Given the description of an element on the screen output the (x, y) to click on. 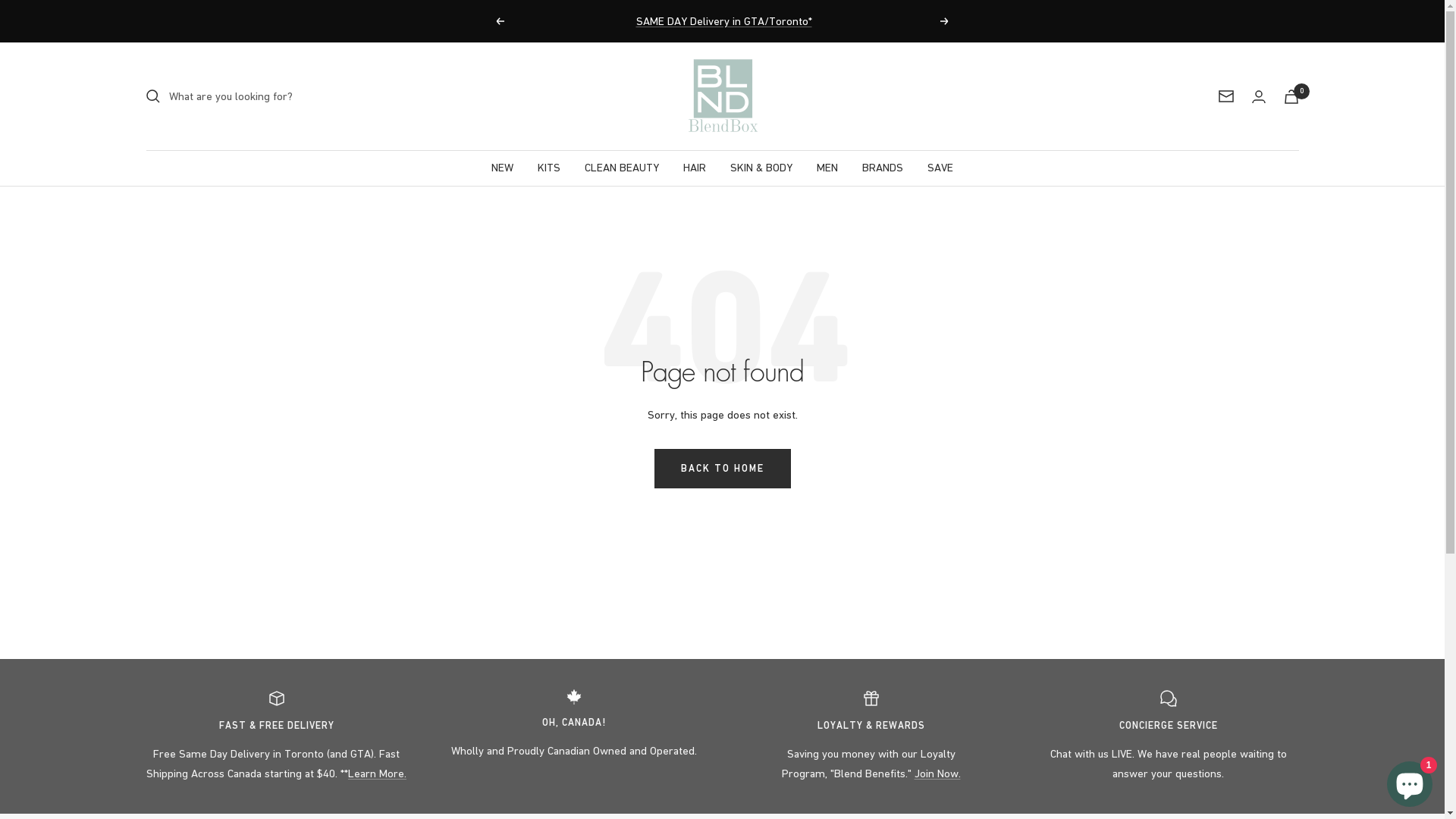
CLEAN BEAUTY Element type: text (621, 167)
Previous Element type: text (499, 21)
HAIR Element type: text (694, 167)
Blend Box Element type: text (721, 96)
0 Element type: text (1290, 96)
SAVE Element type: text (940, 167)
MEN Element type: text (826, 167)
Join Now. Element type: text (937, 772)
SKIN & BODY Element type: text (761, 167)
Learn More. Element type: text (377, 772)
Newsletter Element type: text (1225, 96)
KITS Element type: text (548, 167)
Next Element type: text (944, 21)
BACK TO HOME Element type: text (721, 468)
Shopify online store chat Element type: hover (1409, 780)
BRANDS Element type: text (882, 167)
NEW Element type: text (502, 167)
